Given the description of an element on the screen output the (x, y) to click on. 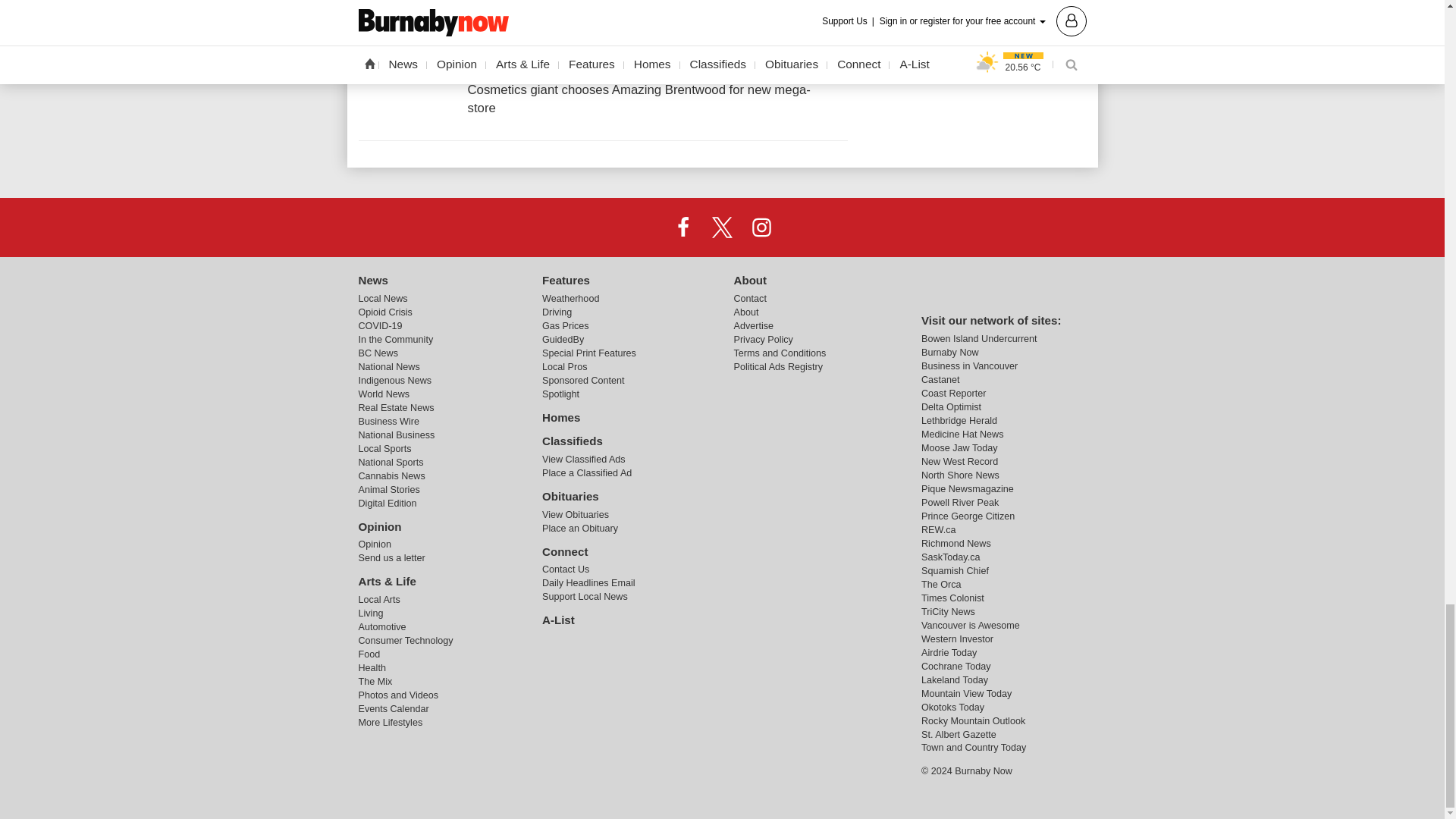
X (721, 226)
Facebook (683, 226)
Instagram (760, 226)
